Given the description of an element on the screen output the (x, y) to click on. 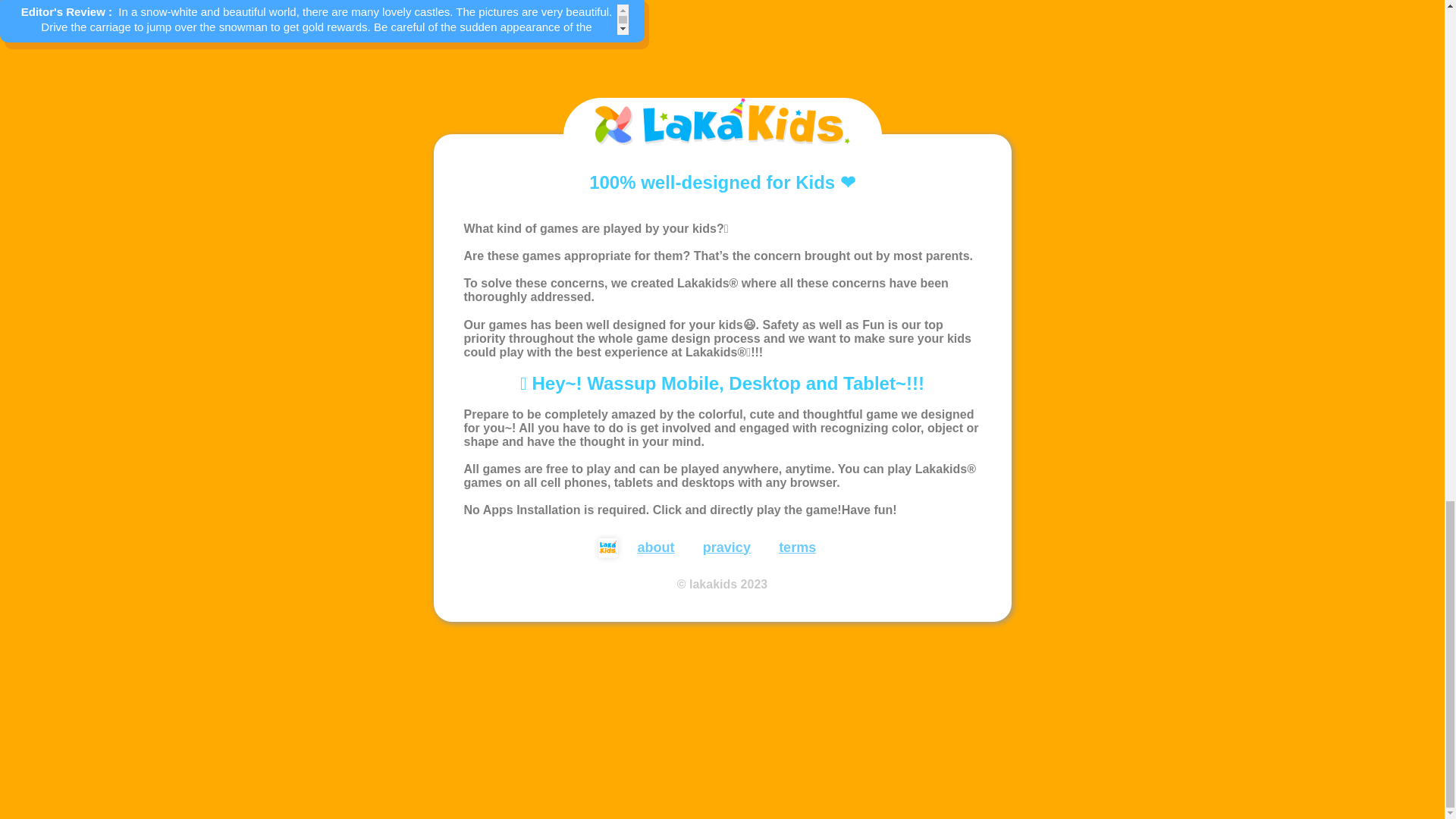
terms (796, 547)
about (656, 547)
pravicy (727, 547)
